Given the description of an element on the screen output the (x, y) to click on. 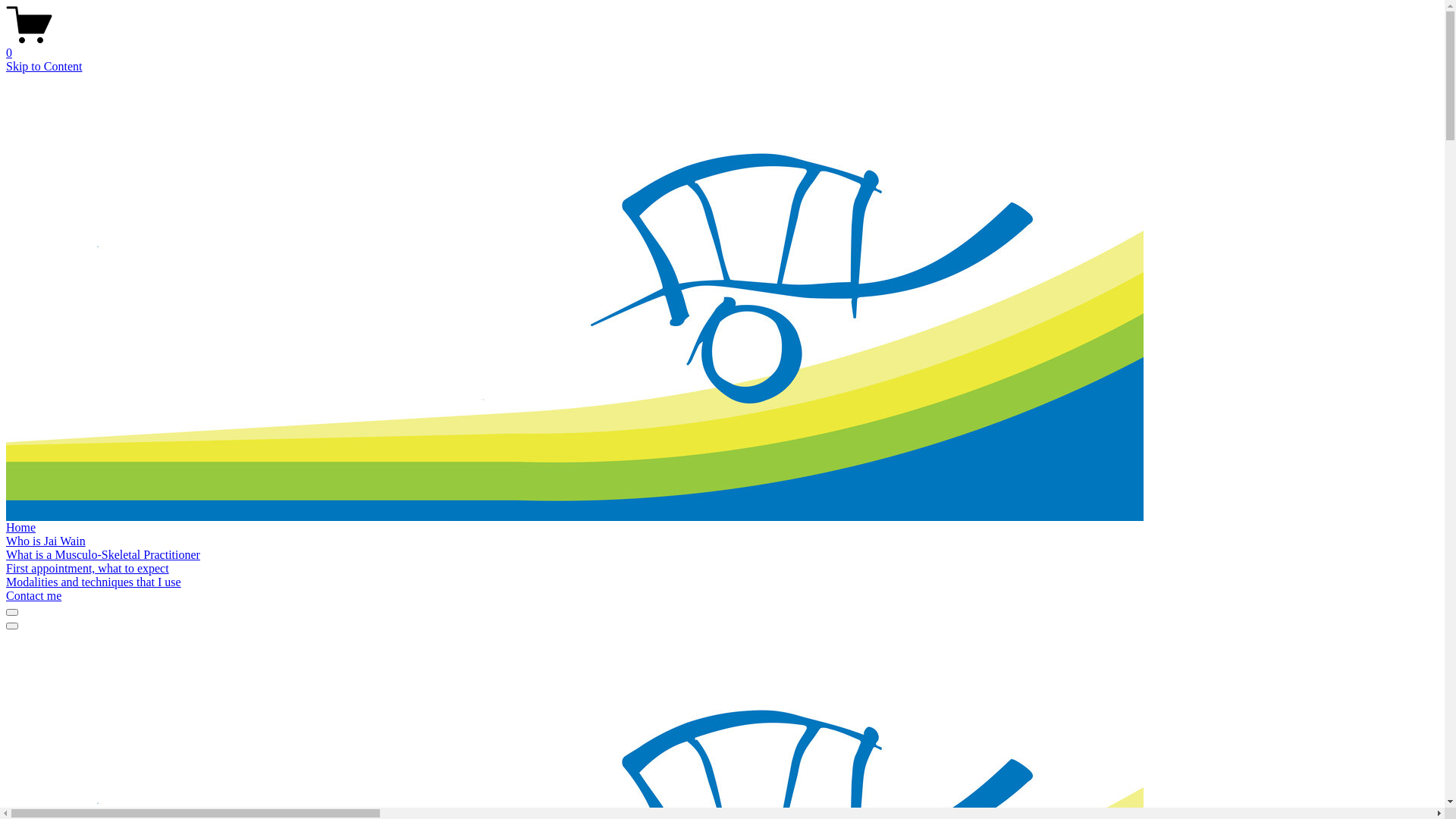
0 Element type: text (722, 45)
Home Element type: text (20, 526)
What is a Musculo-Skeletal Practitioner Element type: text (103, 554)
Who is Jai Wain Element type: text (45, 540)
Skip to Content Element type: text (43, 65)
Contact me Element type: text (33, 595)
Modalities and techniques that I use Element type: text (93, 581)
First appointment, what to expect Element type: text (87, 567)
